Given the description of an element on the screen output the (x, y) to click on. 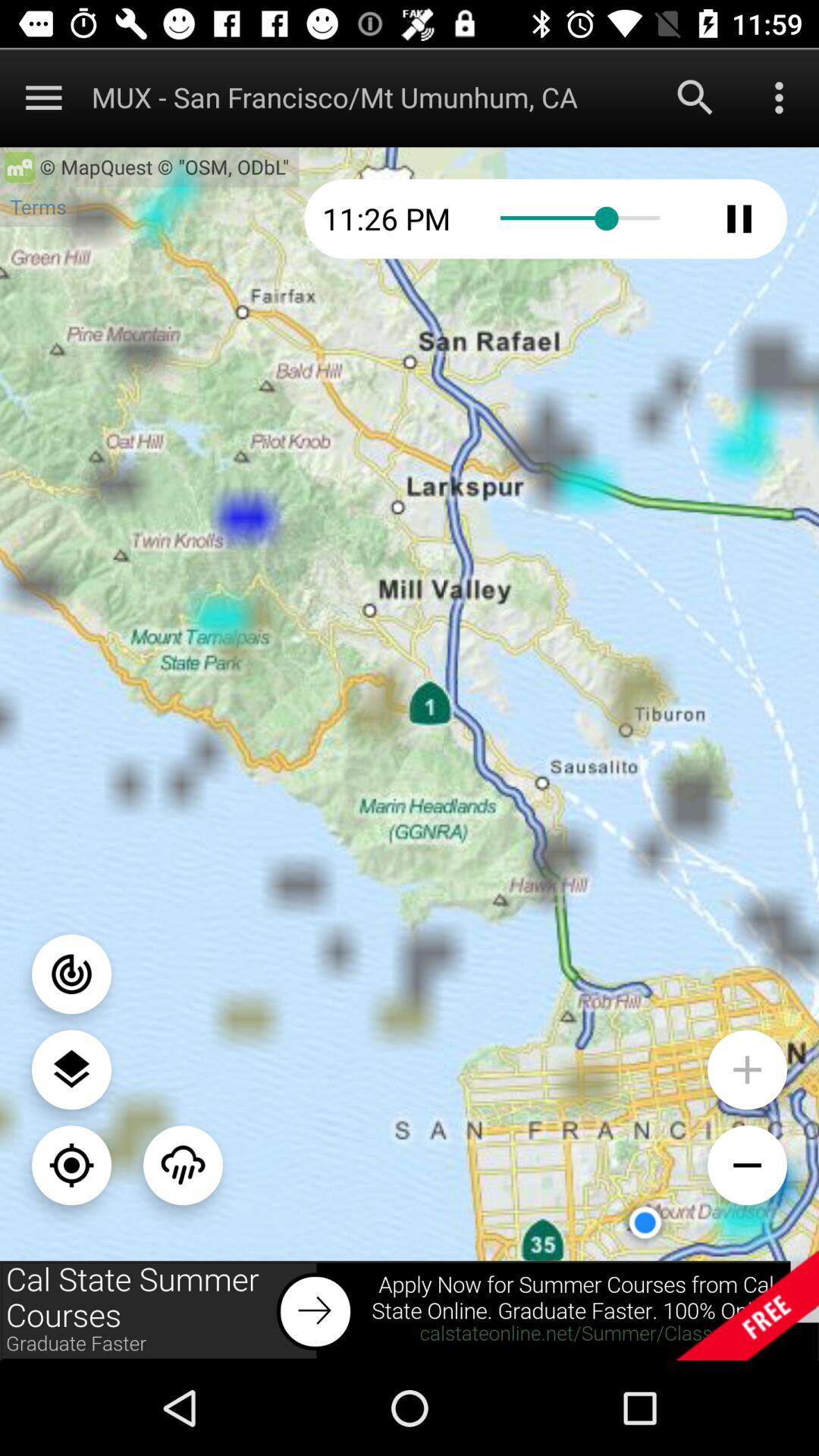
move map (71, 1165)
